Given the description of an element on the screen output the (x, y) to click on. 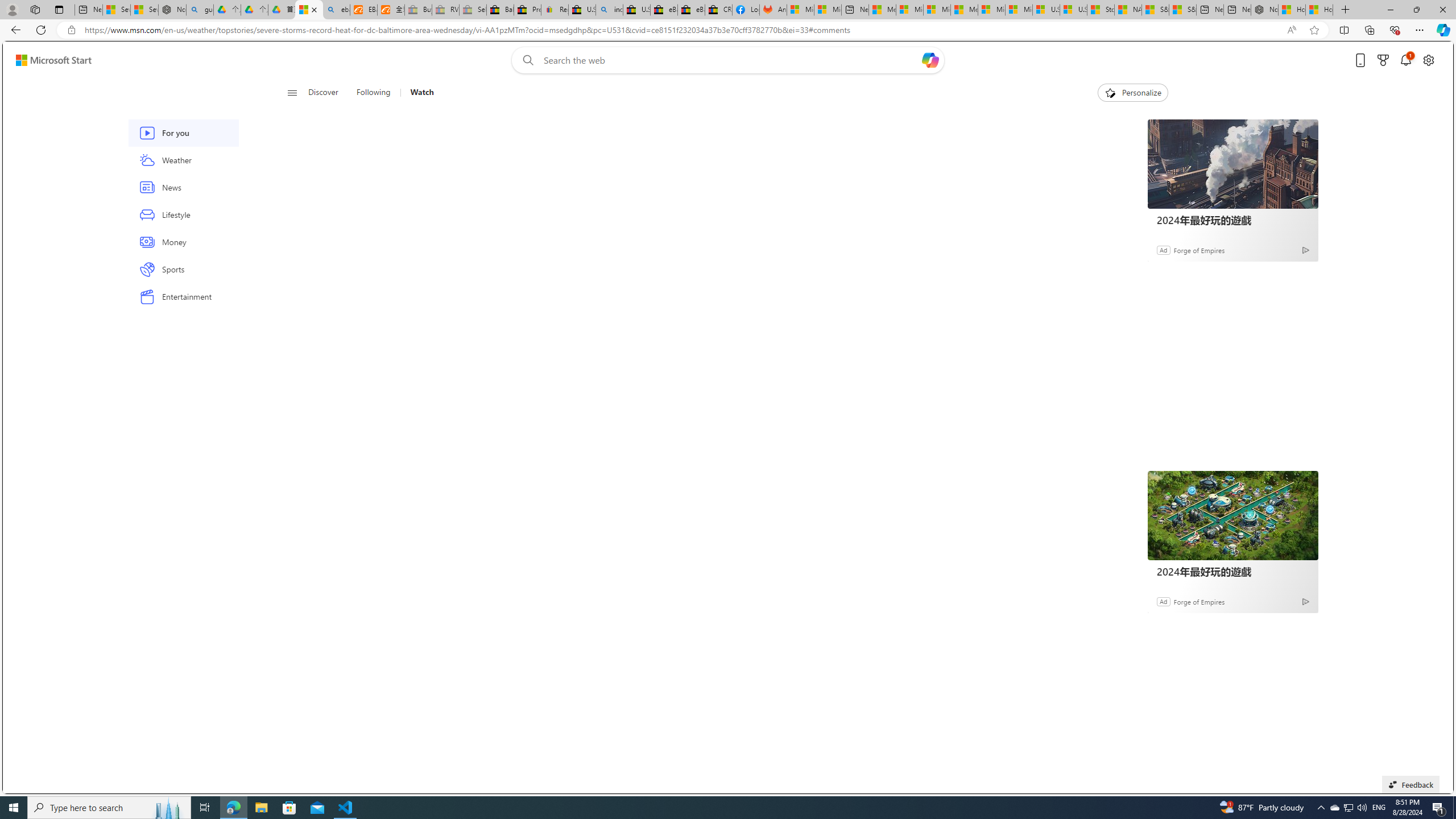
Sell worldwide with eBay - Sleeping (473, 9)
Microsoft account | Privacy (909, 9)
Baby Keepsakes & Announcements for sale | eBay (499, 9)
